Given the description of an element on the screen output the (x, y) to click on. 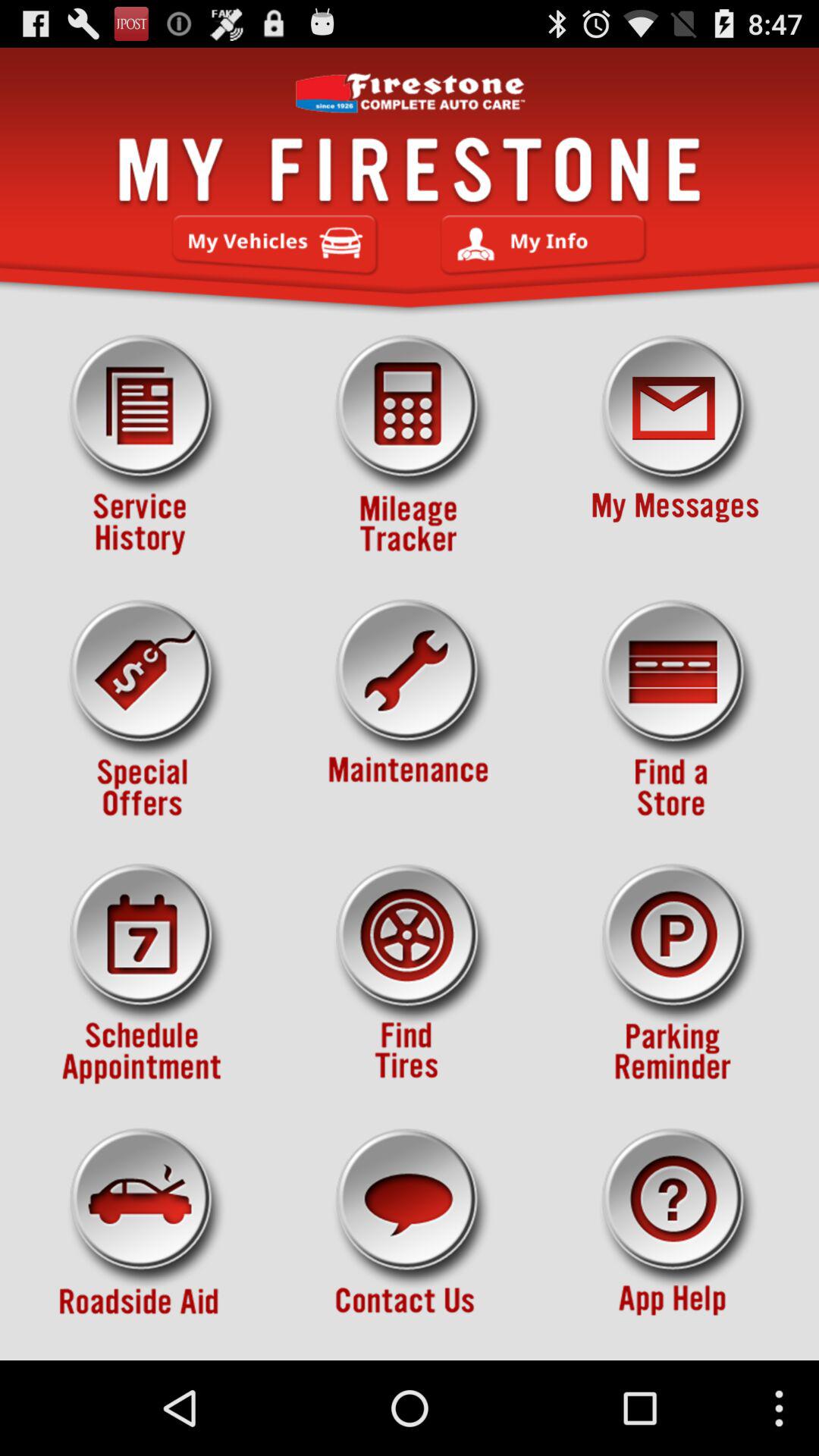
mileage tracker (409, 445)
